Given the description of an element on the screen output the (x, y) to click on. 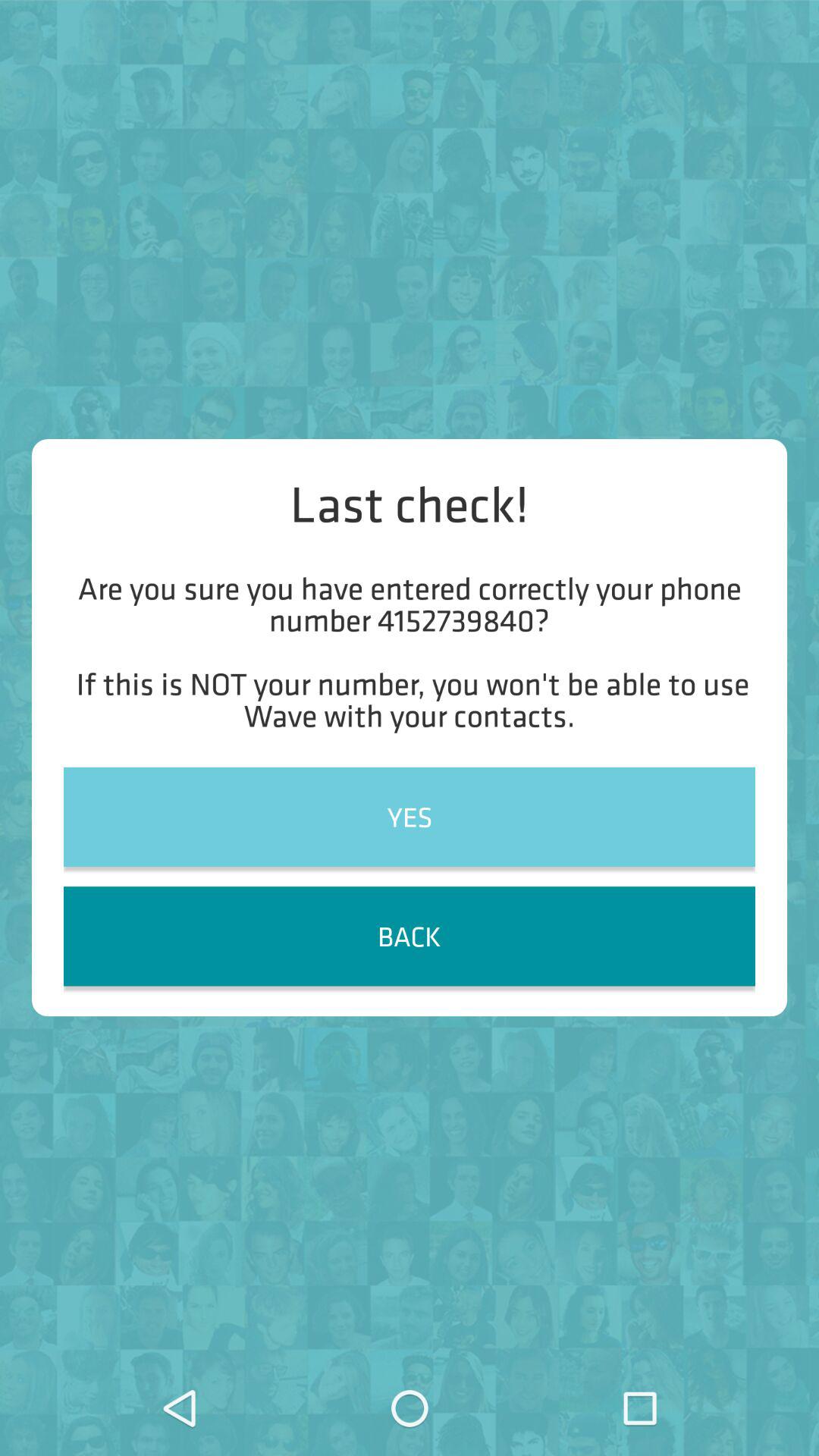
scroll until yes item (409, 816)
